Given the description of an element on the screen output the (x, y) to click on. 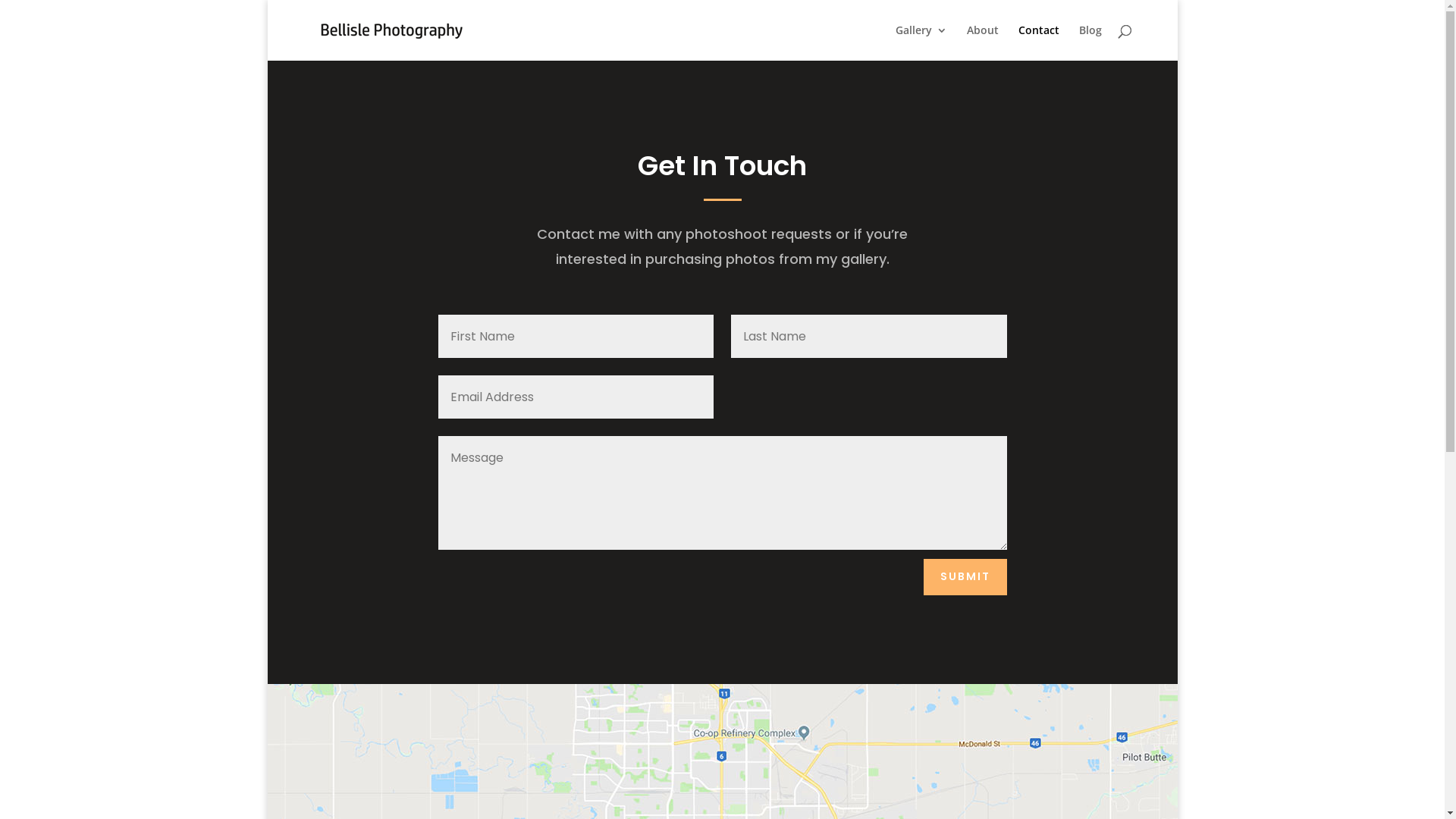
Gallery Element type: text (920, 42)
Blog Element type: text (1089, 42)
Contact Element type: text (1037, 42)
SUBMIT Element type: text (965, 576)
About Element type: text (981, 42)
